Given the description of an element on the screen output the (x, y) to click on. 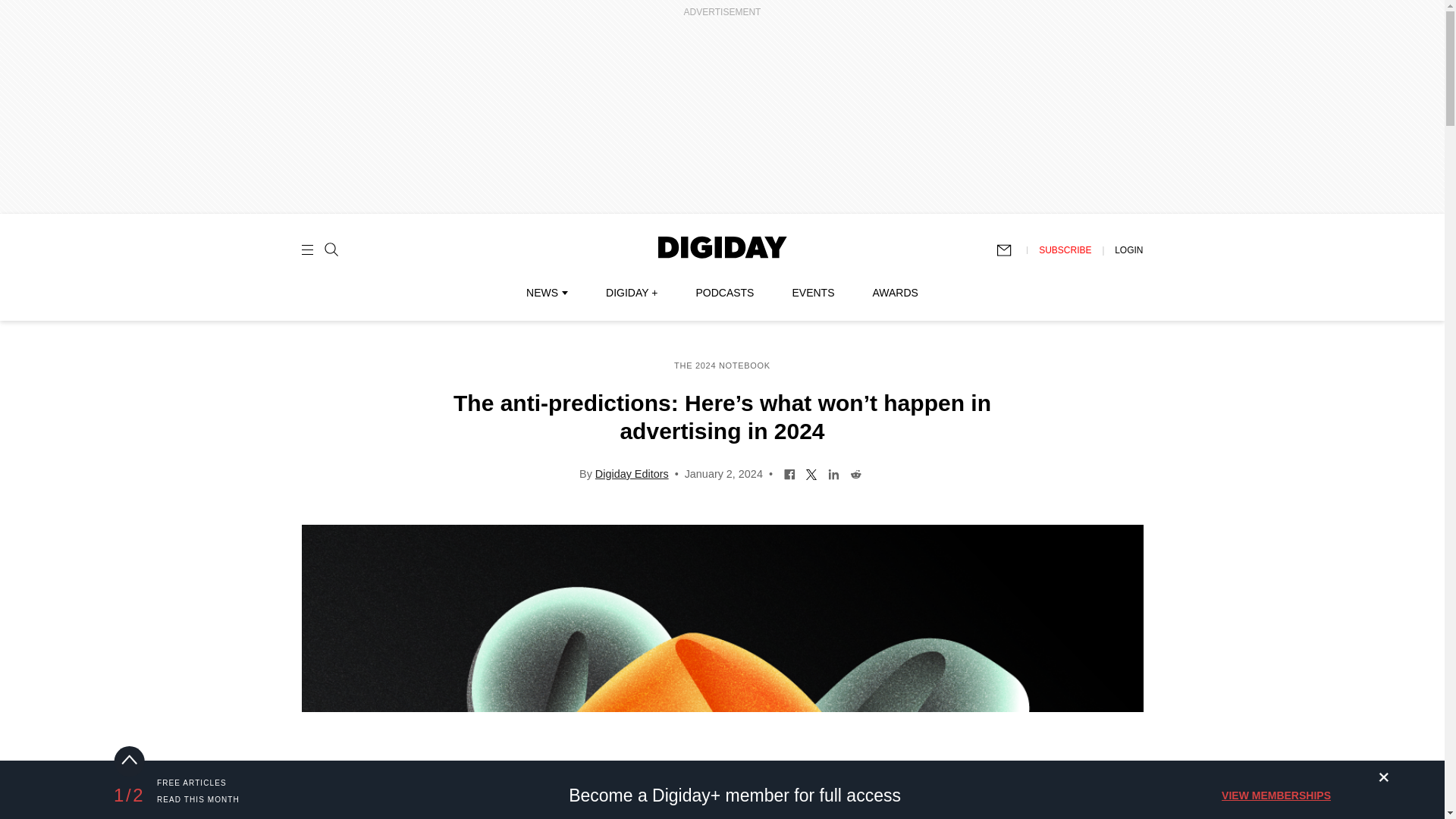
AWARDS (894, 292)
Share on LinkedIn (833, 472)
Share on Twitter (811, 472)
Share on Facebook (789, 472)
PODCASTS (725, 292)
LOGIN (1128, 249)
EVENTS (813, 292)
NEWS (546, 292)
SUBSCRIBE (1064, 249)
Subscribe (1010, 250)
Share on Reddit (854, 472)
